Given the description of an element on the screen output the (x, y) to click on. 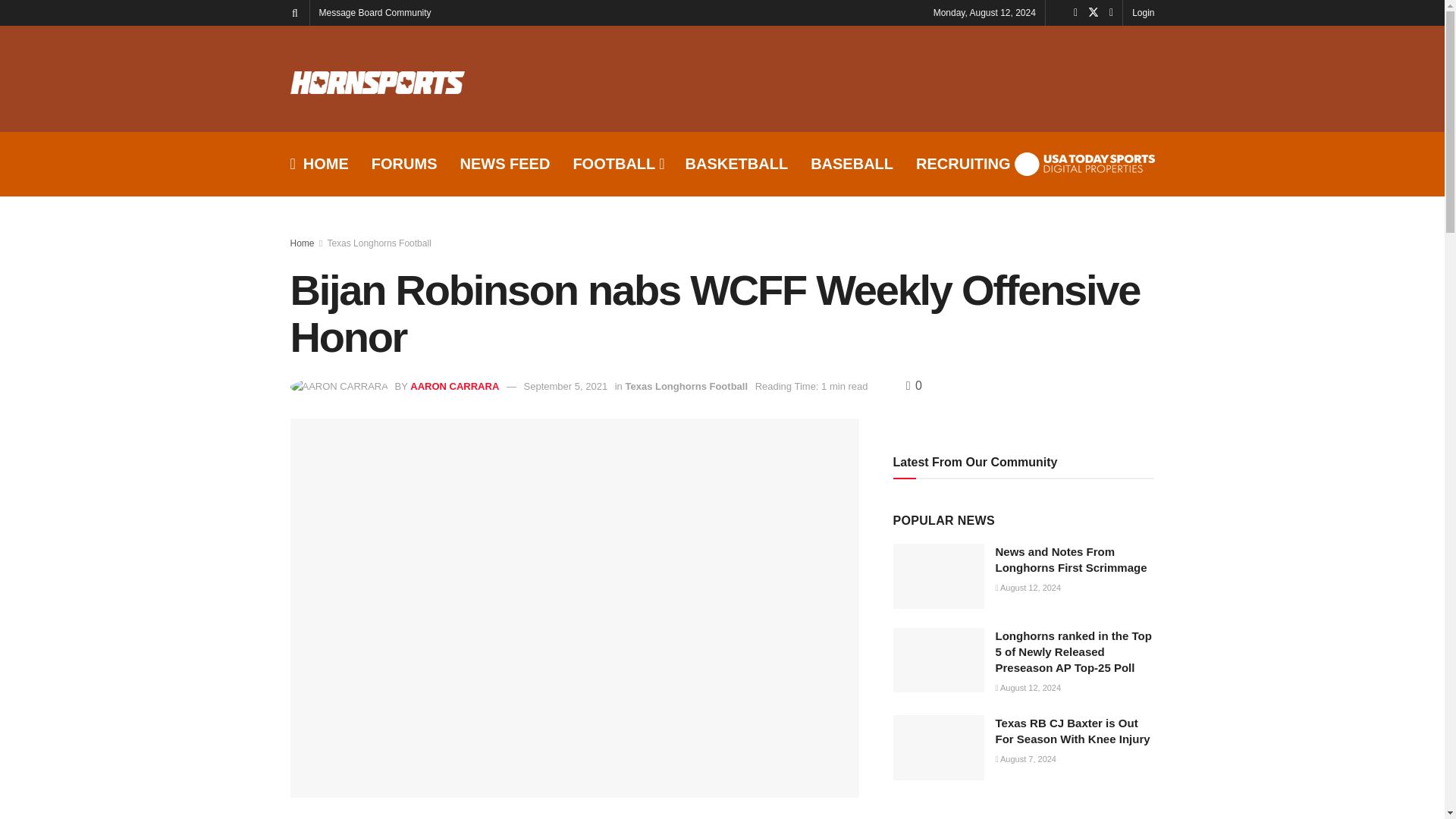
FOOTBALL (617, 163)
0 (913, 385)
Texas Longhorns Football (378, 243)
RECRUITING (962, 163)
AARON CARRARA (454, 386)
Texas Longhorns Football (686, 386)
September 5, 2021 (566, 386)
Login (1143, 12)
FORUMS (404, 163)
Message Board Community (374, 12)
